Given the description of an element on the screen output the (x, y) to click on. 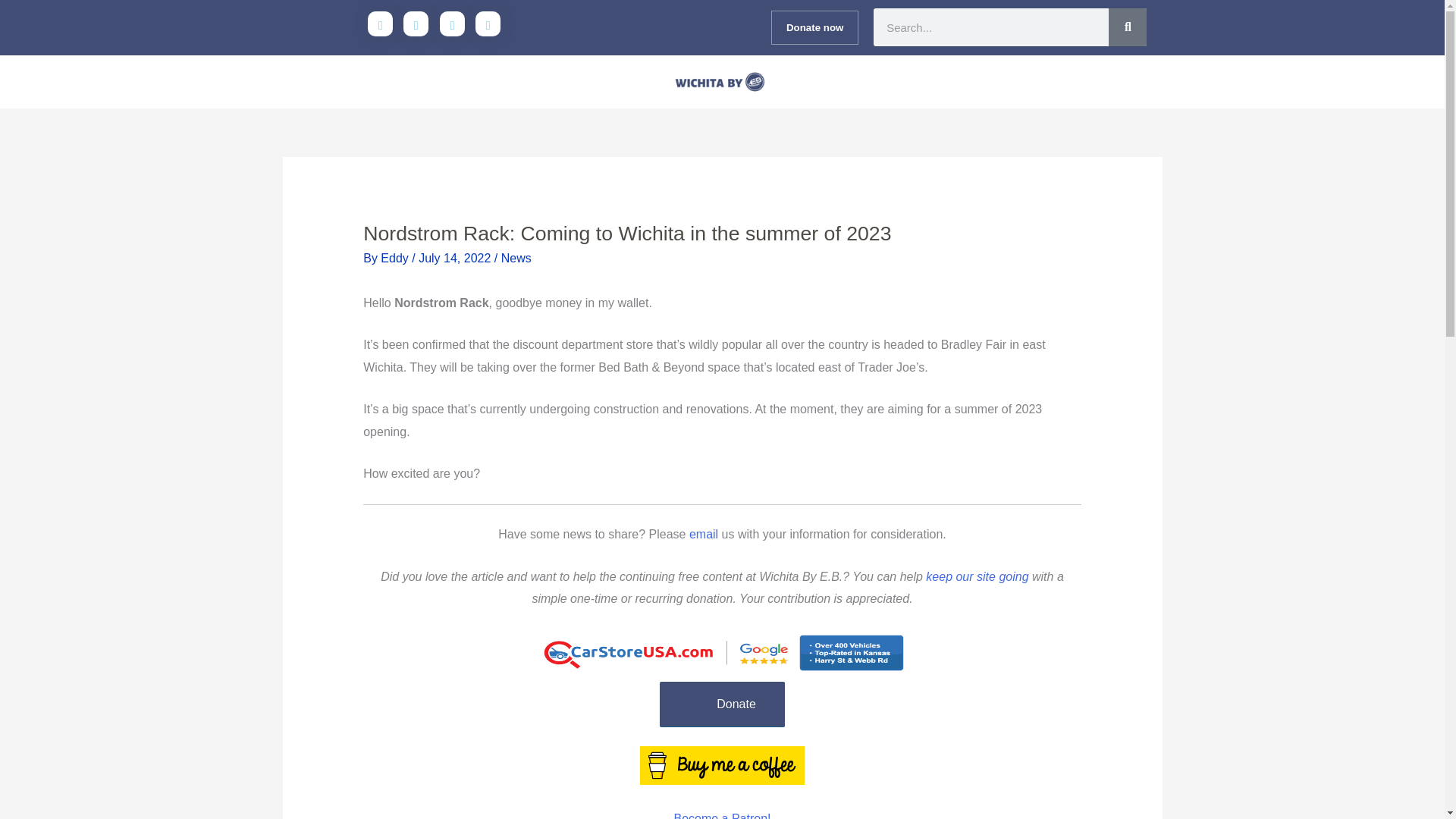
View all posts by Eddy (396, 257)
Donate now (815, 27)
